Given the description of an element on the screen output the (x, y) to click on. 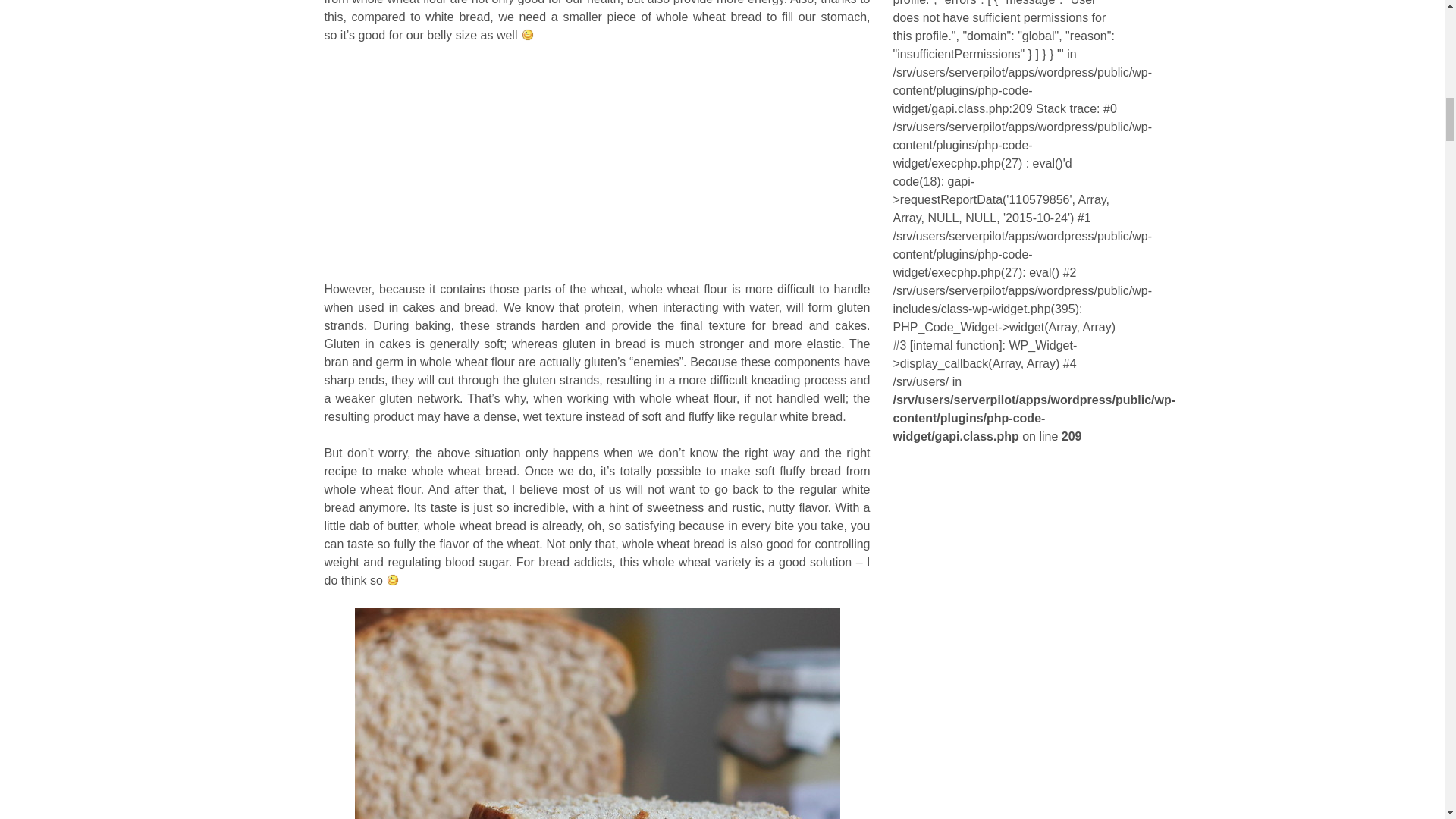
 whole wheat bread by LinhTrang9185, on Flickr (597, 713)
